Given the description of an element on the screen output the (x, y) to click on. 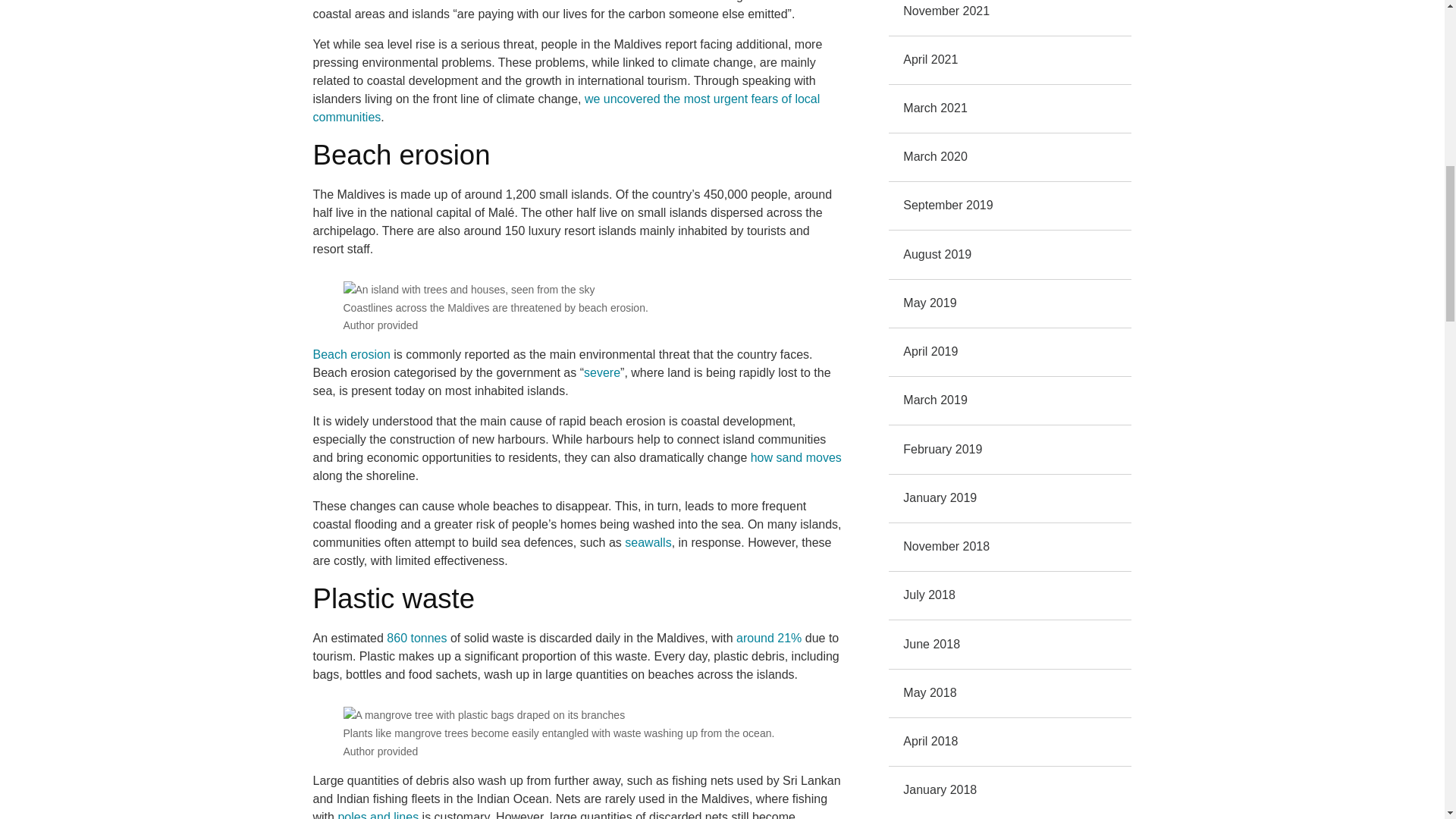
seawalls (647, 542)
we uncovered the most urgent fears of local communities (566, 107)
860 tonnes (416, 637)
Beach erosion (351, 354)
severe (601, 372)
how sand moves (796, 457)
